Given the description of an element on the screen output the (x, y) to click on. 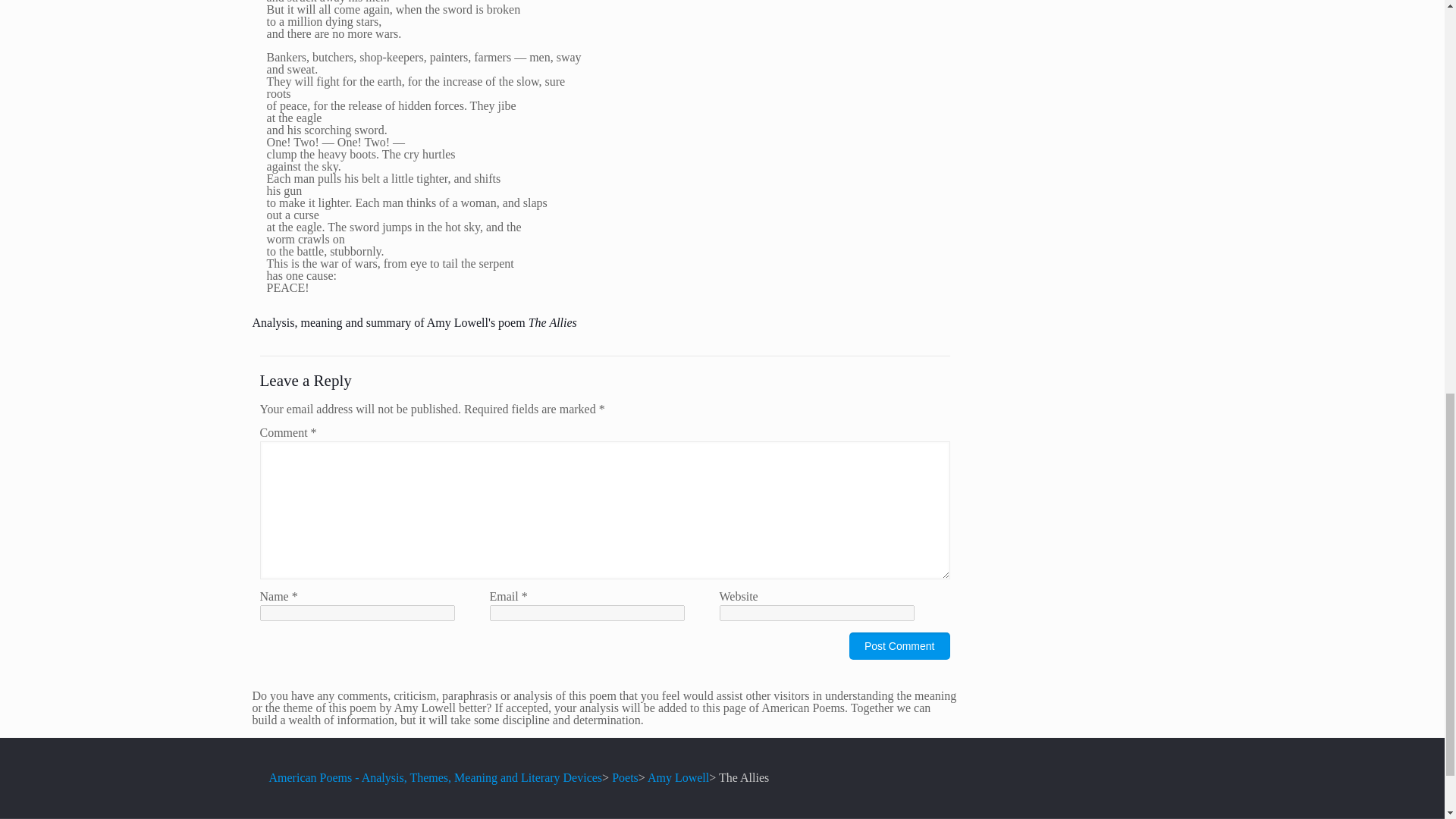
Poets (625, 777)
Go to Amy Lowell. (678, 777)
Go to Poets. (625, 777)
Post Comment (899, 646)
Amy Lowell (678, 777)
Post Comment (899, 646)
